Given the description of an element on the screen output the (x, y) to click on. 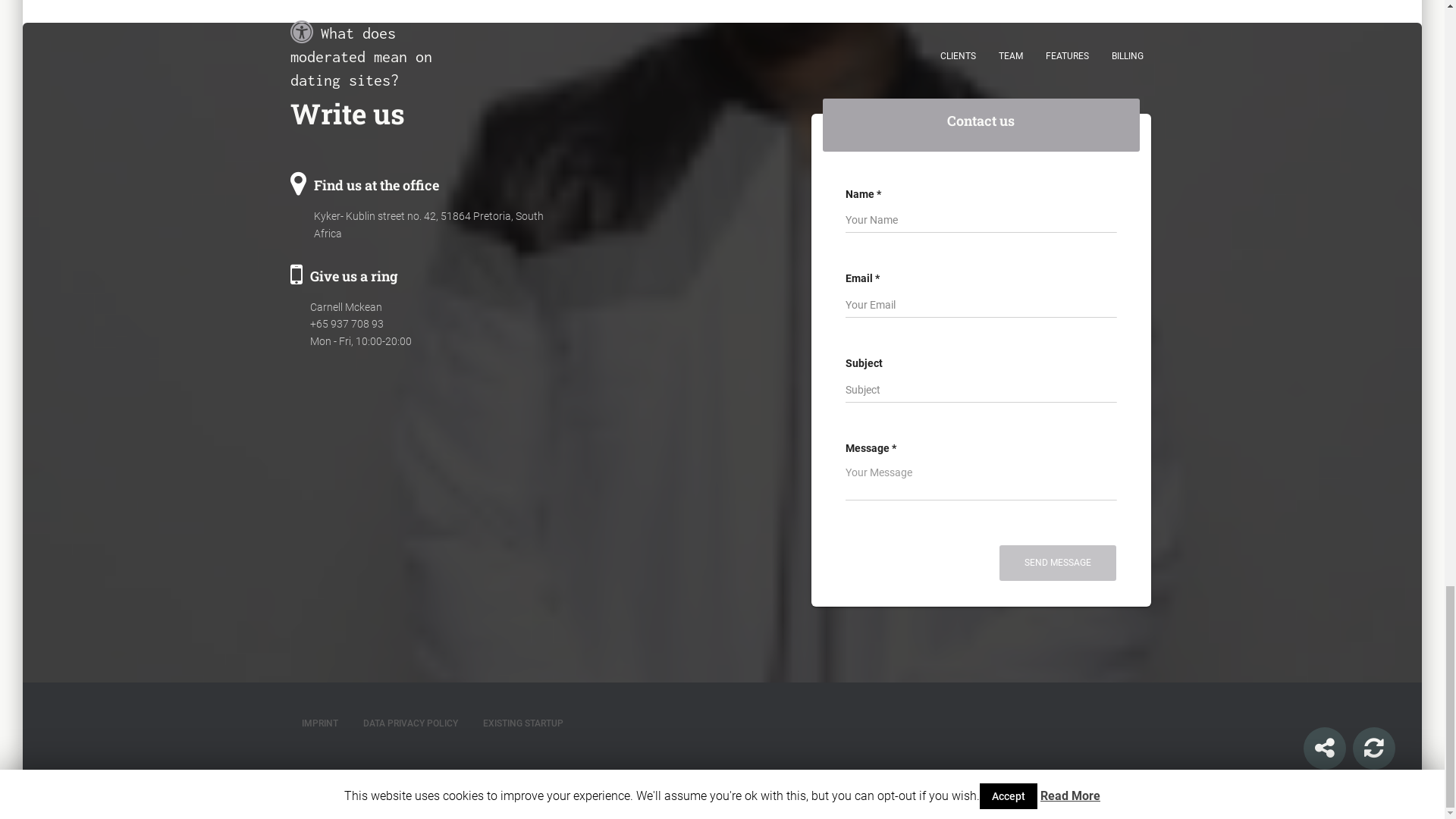
DATA PRIVACY POLICY (410, 723)
EXISTING STARTUP (523, 723)
SEND MESSAGE (1057, 562)
IMPRINT (319, 723)
